Given the description of an element on the screen output the (x, y) to click on. 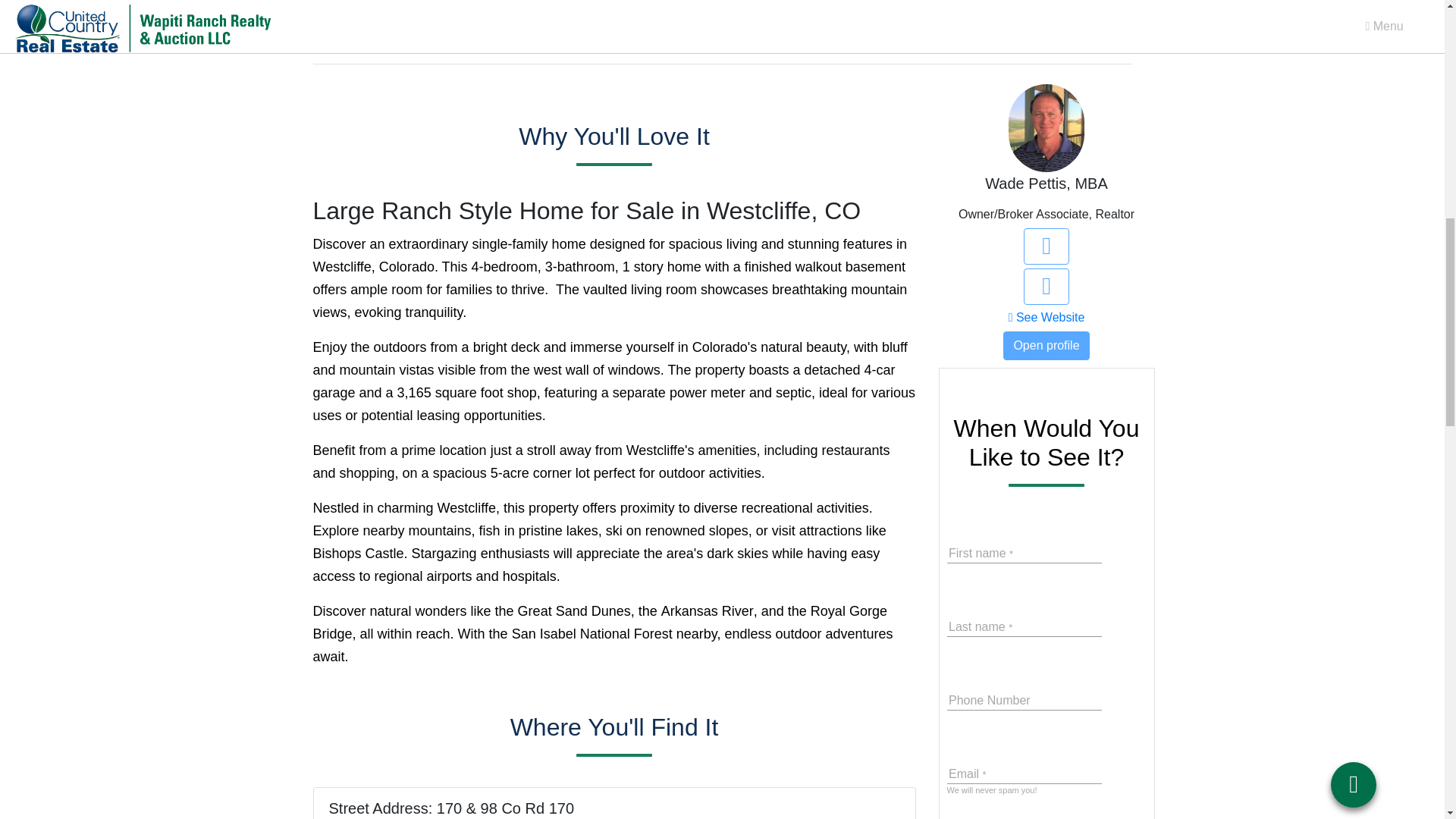
Open profile (1046, 345)
See Website (1046, 317)
